Given the description of an element on the screen output the (x, y) to click on. 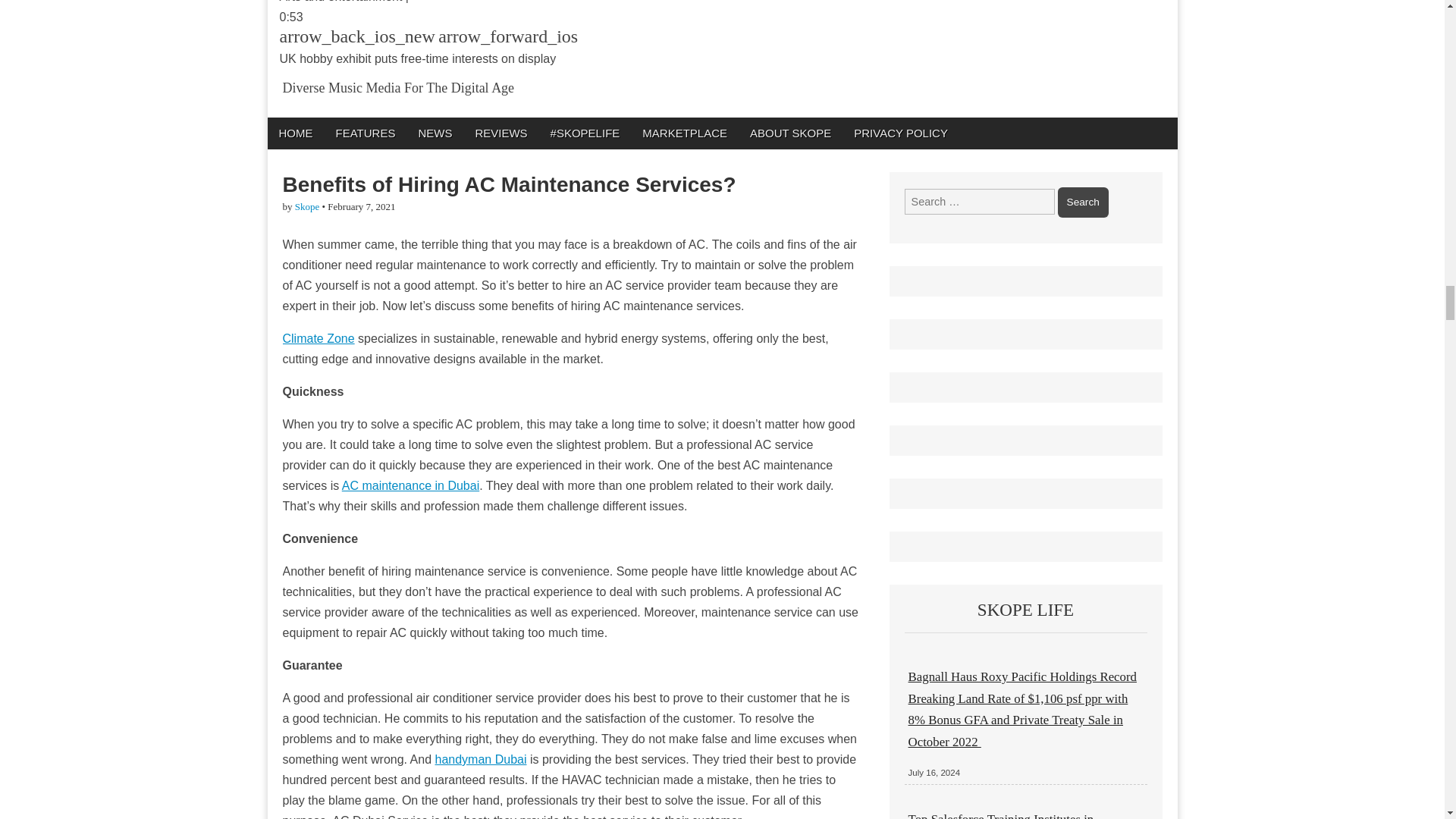
Search (1083, 202)
REVIEWS (500, 132)
PRIVACY POLICY (901, 132)
MARKETPLACE (684, 132)
NEWS (434, 132)
Climate Zone (317, 338)
AC maintenance in Dubai (410, 485)
Posts by Skope (307, 206)
ABOUT SKOPE (790, 132)
Skope (307, 206)
handyman Dubai (481, 758)
HOME (294, 132)
